Given the description of an element on the screen output the (x, y) to click on. 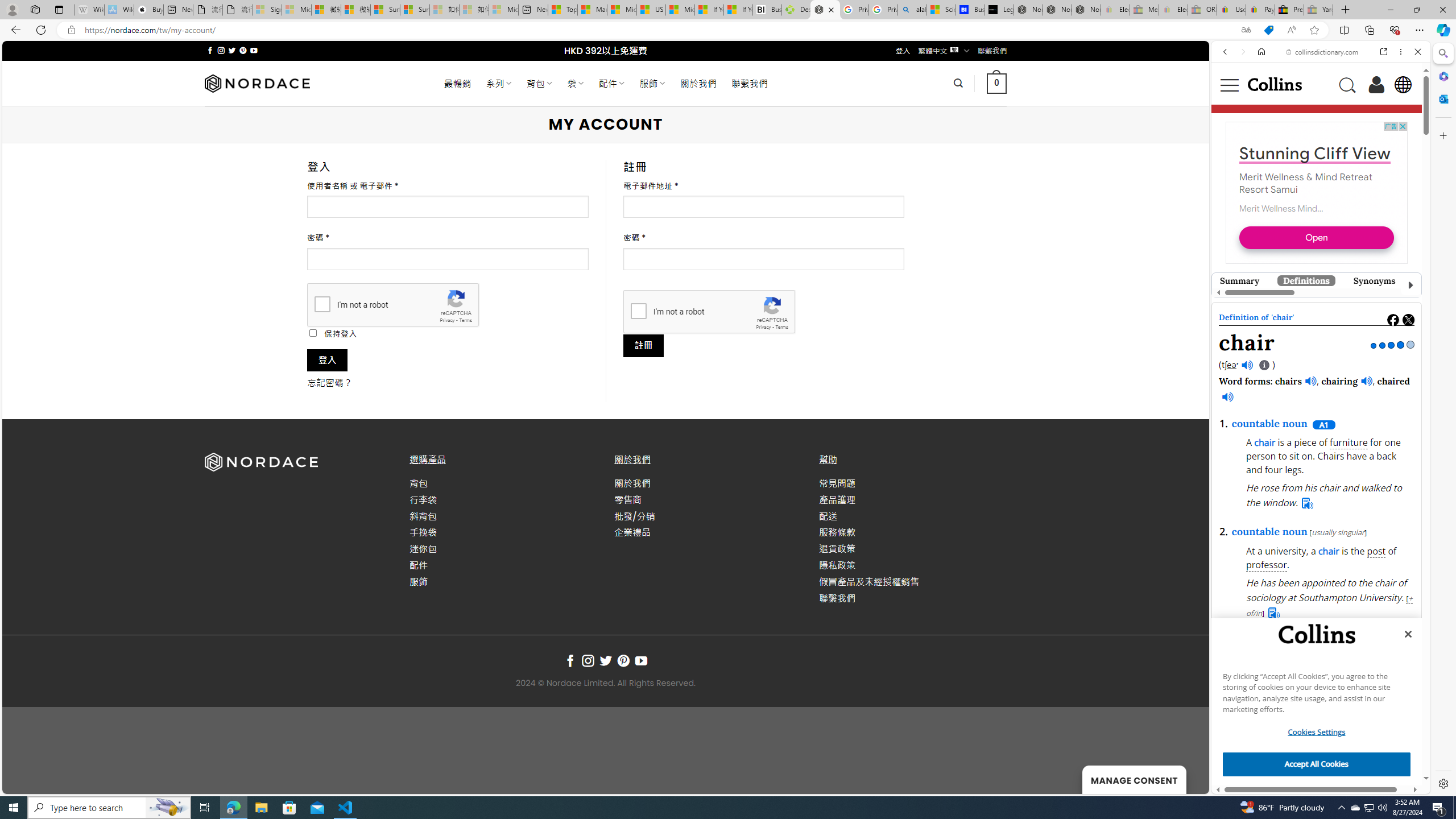
 0  (995, 83)
Oxford Languages (1379, 159)
US Heat Deaths Soared To Record High Last Year (651, 9)
IPA Pronunciation Guide (1264, 365)
